Given the description of an element on the screen output the (x, y) to click on. 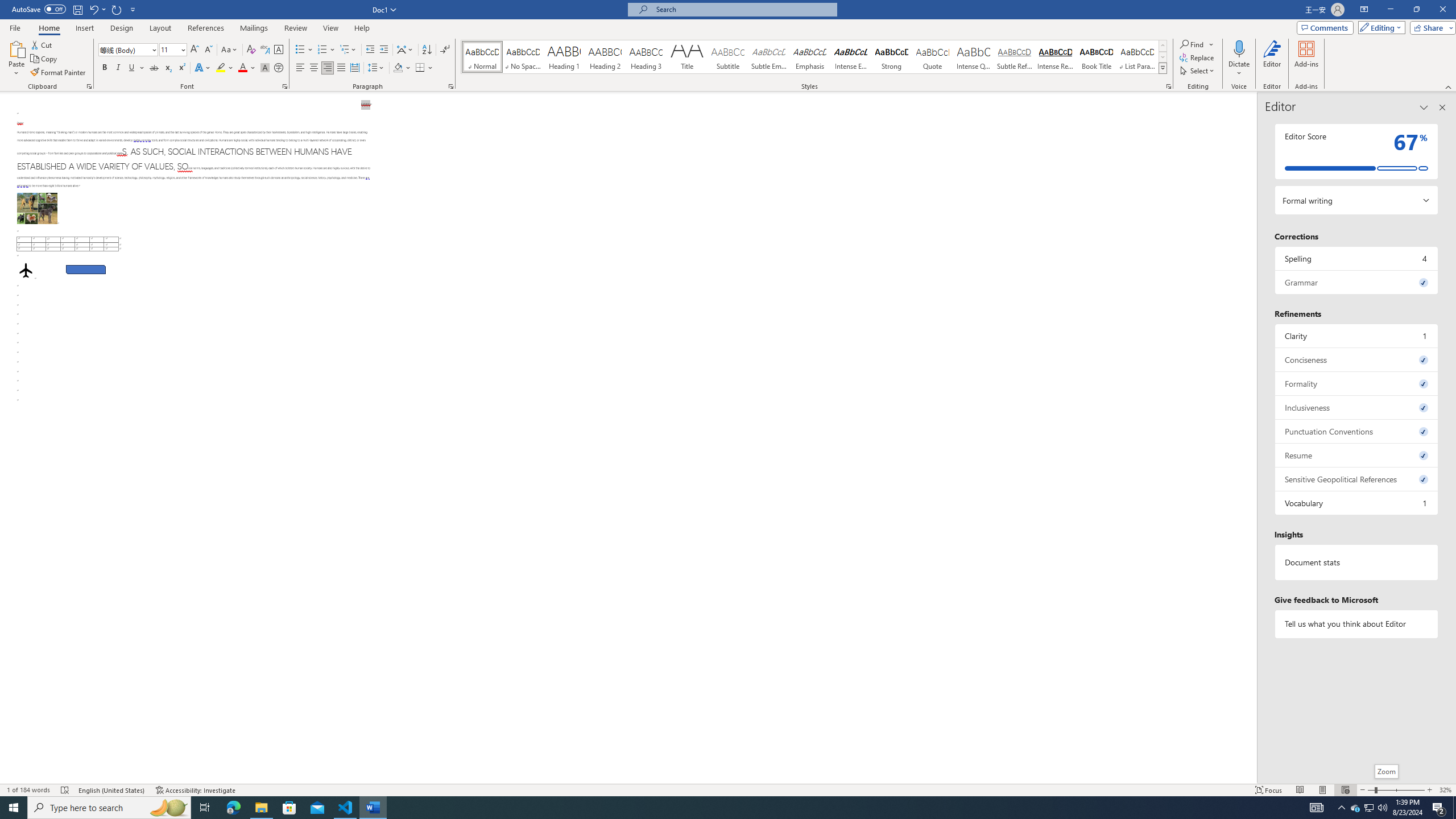
Quote (932, 56)
Morphological variation in six dogs (36, 208)
Intense Quote (973, 56)
Intense Emphasis (849, 56)
